Given the description of an element on the screen output the (x, y) to click on. 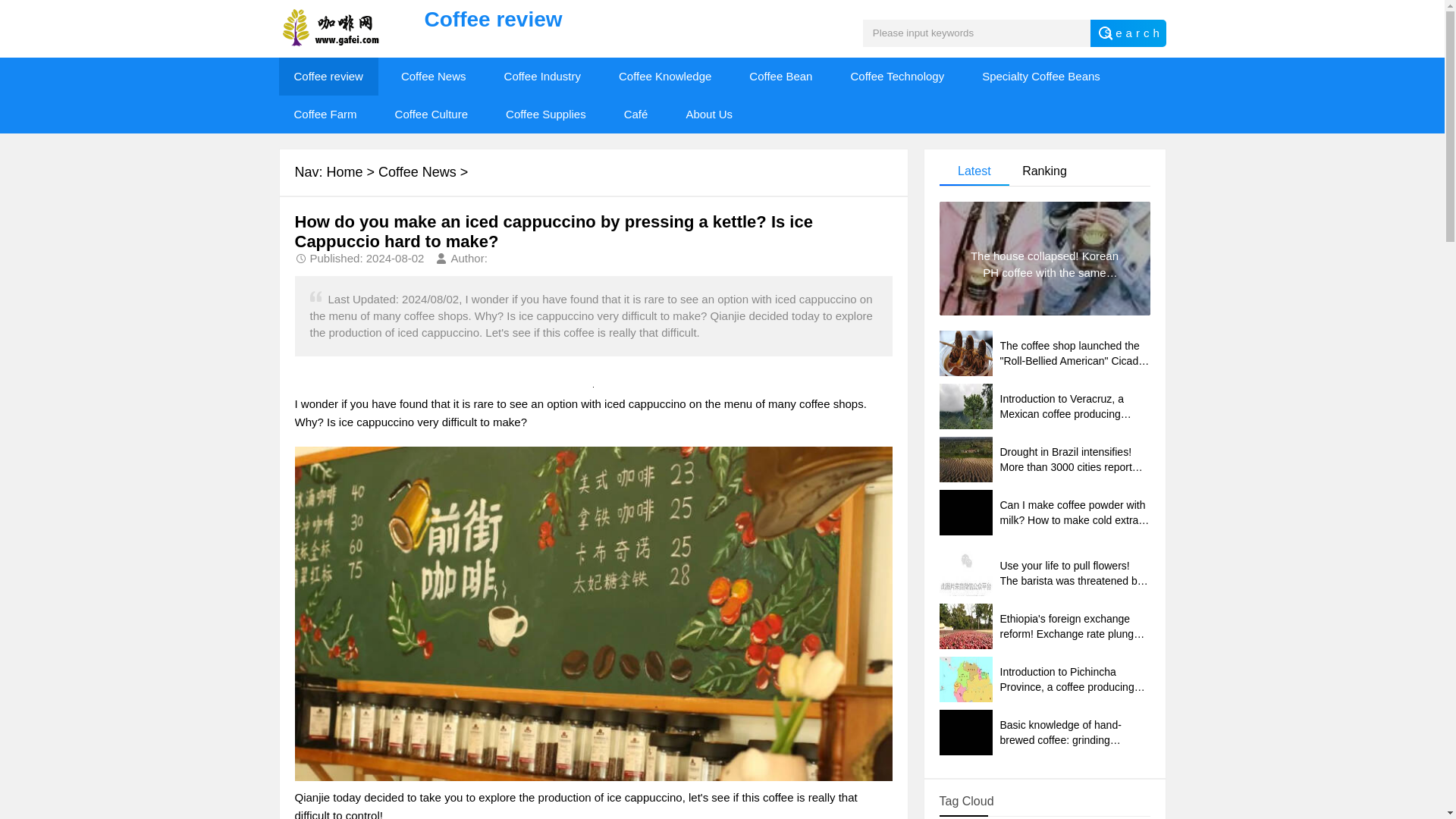
Coffee Technology (896, 76)
Coffee Supplies (545, 114)
Coffee News (433, 76)
Specialty Coffee Beans (1040, 76)
About Us (708, 114)
Coffee review (571, 19)
Coffee Farm (325, 114)
Coffee review (328, 76)
Please input keywords (976, 32)
Home (344, 171)
Coffee Bean (780, 76)
